Given the description of an element on the screen output the (x, y) to click on. 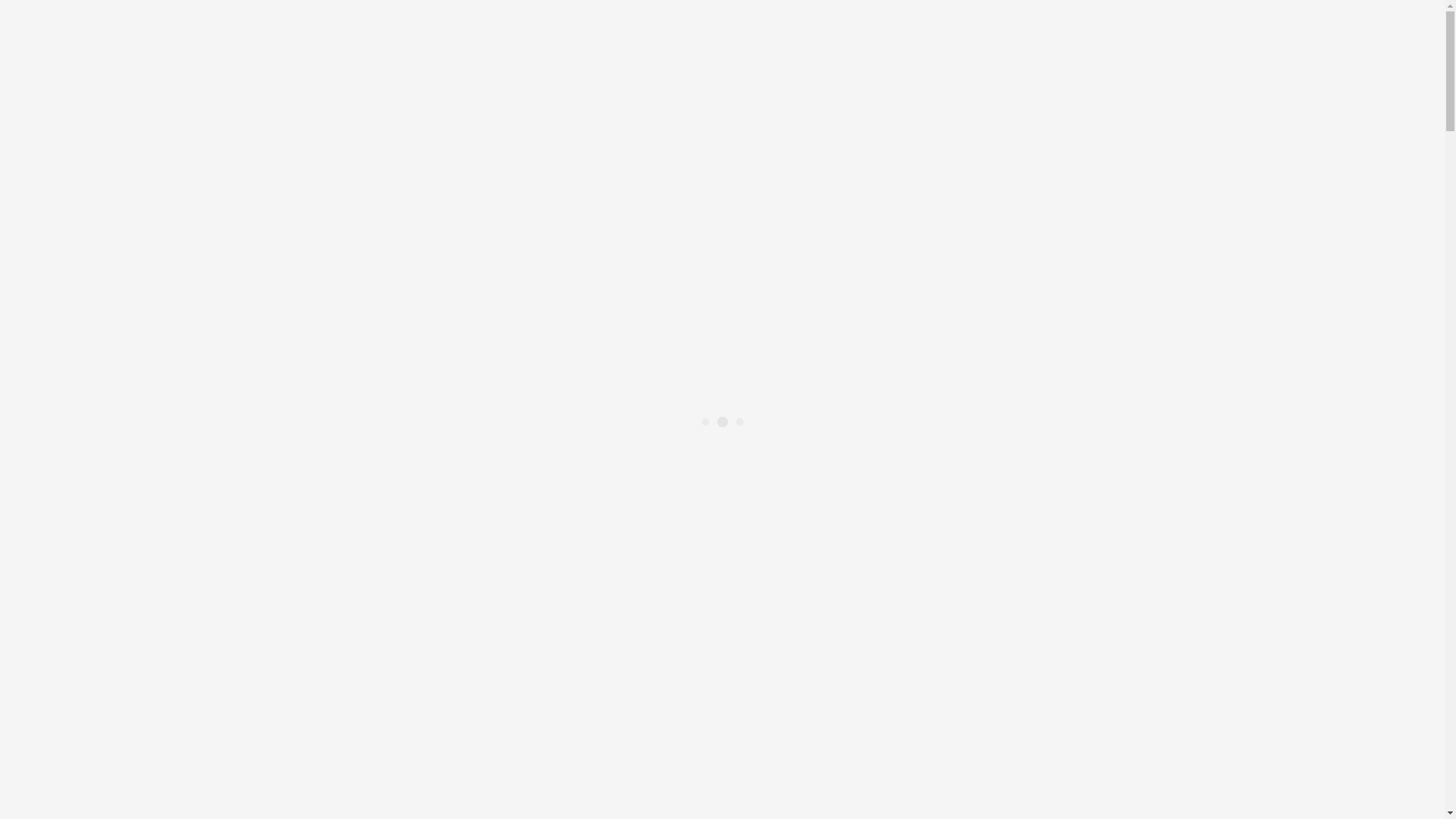
Travailler Entreprendre Element type: text (123, 448)
Littoral Element type: text (84, 680)
Les communes Element type: text (102, 625)
Petite enfance Element type: text (131, 543)
Action Sociale Element type: text (133, 584)
Mon quotidien Element type: text (72, 161)
Webcams Element type: text (59, 18)
Webcams Element type: text (120, 748)
Urbanisme et habitat Element type: text (116, 284)
En covoiturage Element type: text (133, 407)
En transport en commun Element type: text (156, 420)
Culture et vie associative Element type: text (127, 639)
Sur les circuits trail Element type: text (144, 803)
Sur les GR34 et GR de Pays Element type: text (165, 775)
Handicap Element type: text (120, 570)
Espaces naturels et littoraux Element type: text (165, 734)
Seniors Element type: text (115, 557)
Centres nautiques Element type: text (140, 693)
Annuaire des services Element type: text (89, 31)
Port Aber Ildut Element type: text (133, 707)
Eau potable Element type: text (125, 243)
Assainissement collectif Element type: text (156, 257)
Contact Element type: text (55, 45)
Eau et assainissement Element type: text (119, 229)
Assainissement non collectif Element type: text (166, 270)
Je suis entrepreneur Element type: text (145, 516)
